Given the description of an element on the screen output the (x, y) to click on. 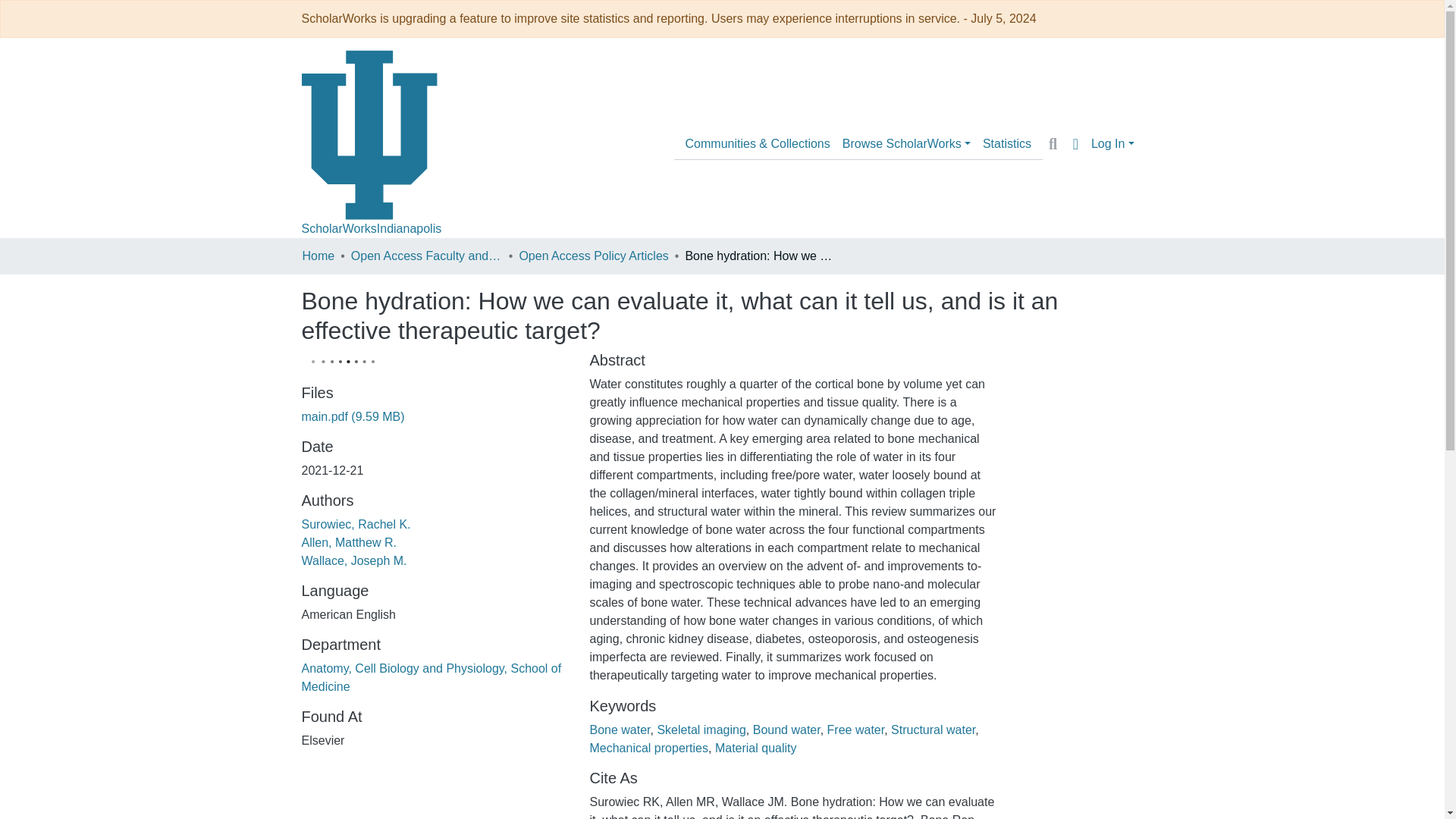
Language switch (1074, 144)
Wallace, Joseph M. (354, 560)
Home (317, 256)
Surowiec, Rachel K. (355, 523)
Mechanical properties (648, 748)
Browse ScholarWorks (905, 143)
Bound water (786, 729)
Allen, Matthew R. (348, 542)
Anatomy, Cell Biology and Physiology, School of Medicine (431, 676)
Statistics (1006, 143)
Open Access Policy Articles (593, 256)
Bone water (619, 729)
Skeletal imaging (700, 729)
Search (1052, 143)
Structural water (933, 729)
